Given the description of an element on the screen output the (x, y) to click on. 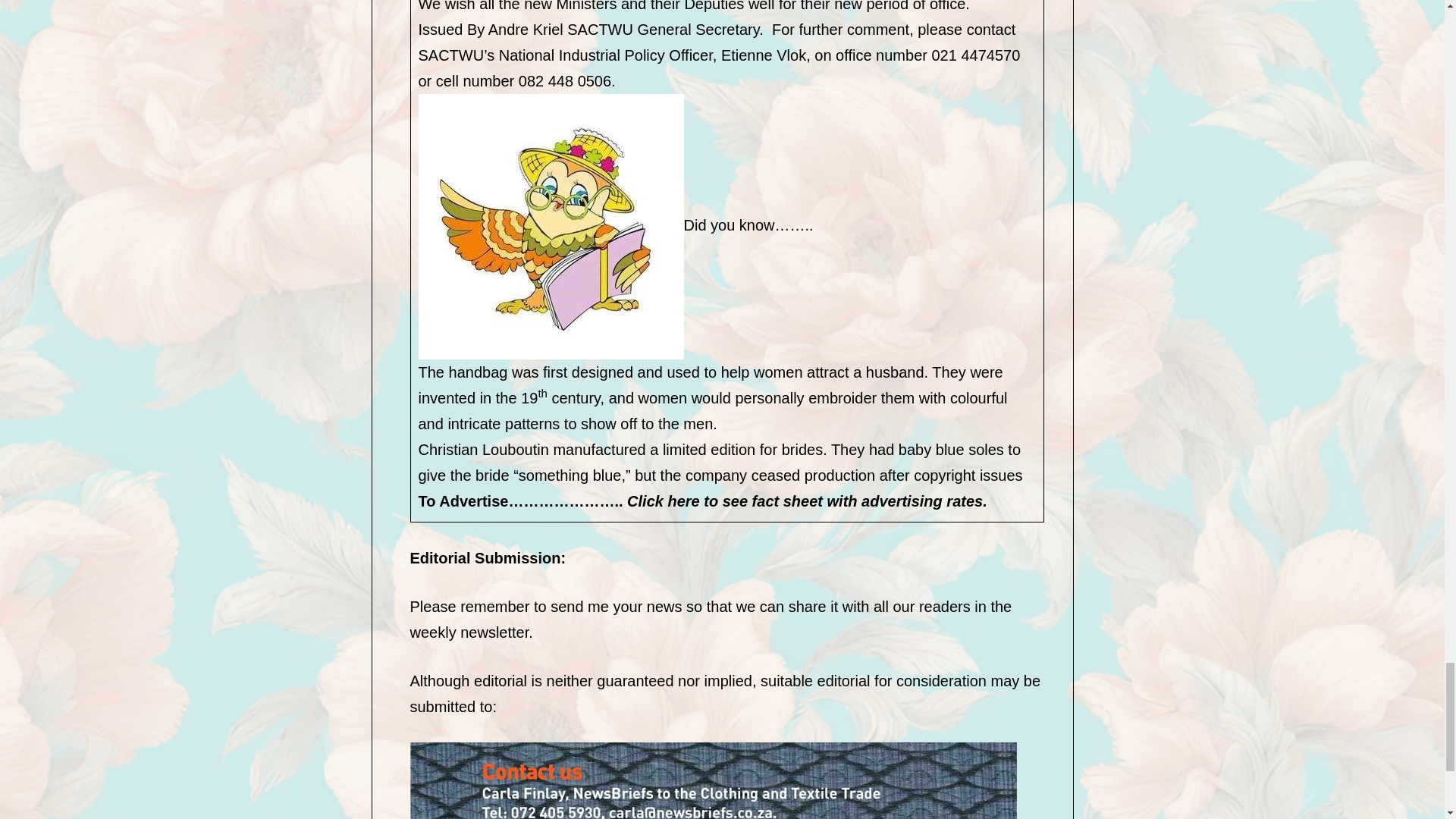
Click here to see fact sheet with advertising rates. (807, 501)
